Given the description of an element on the screen output the (x, y) to click on. 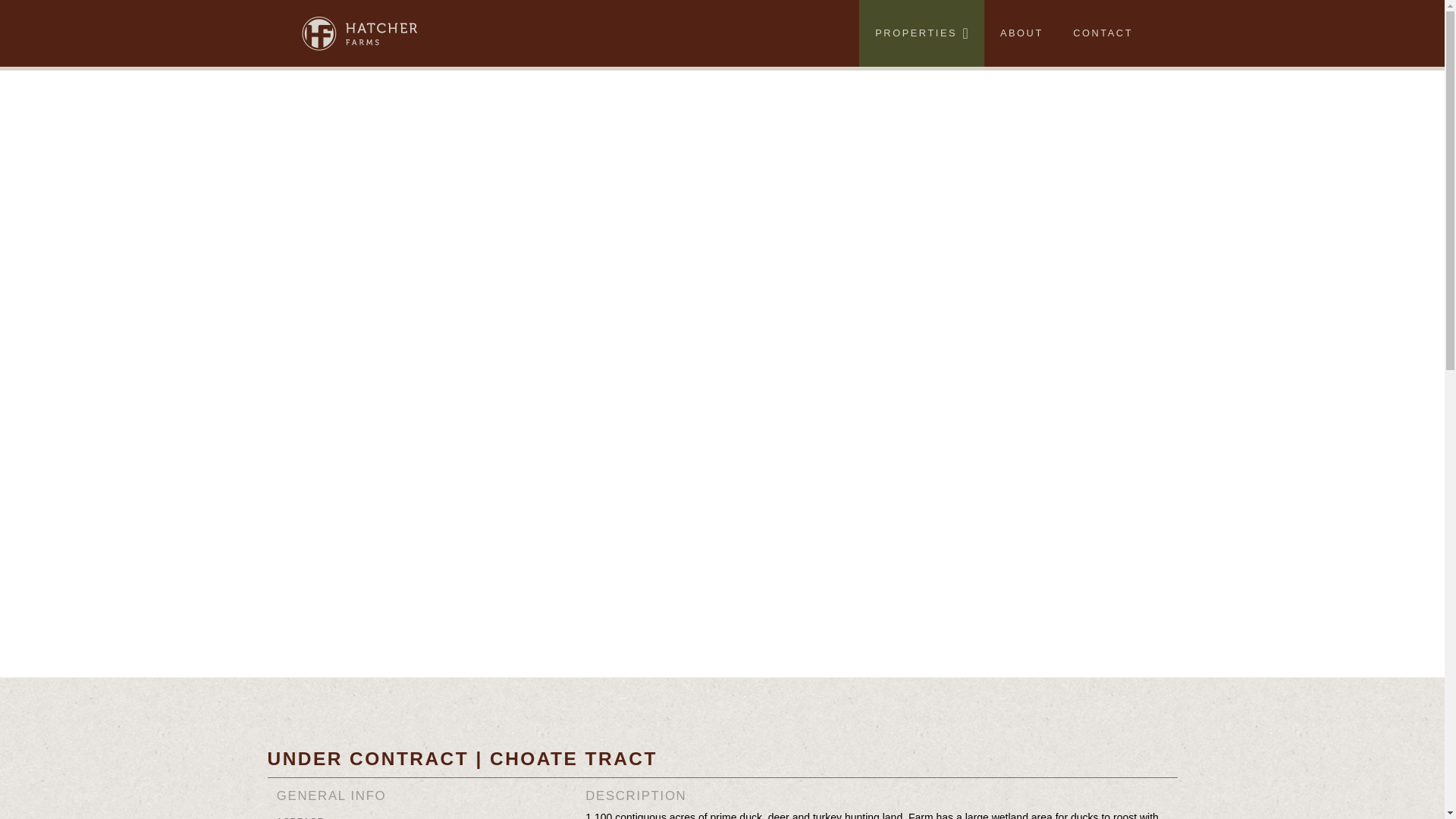
CONTACT (1102, 33)
PROPERTIES (921, 33)
ABOUT (1020, 33)
